Given the description of an element on the screen output the (x, y) to click on. 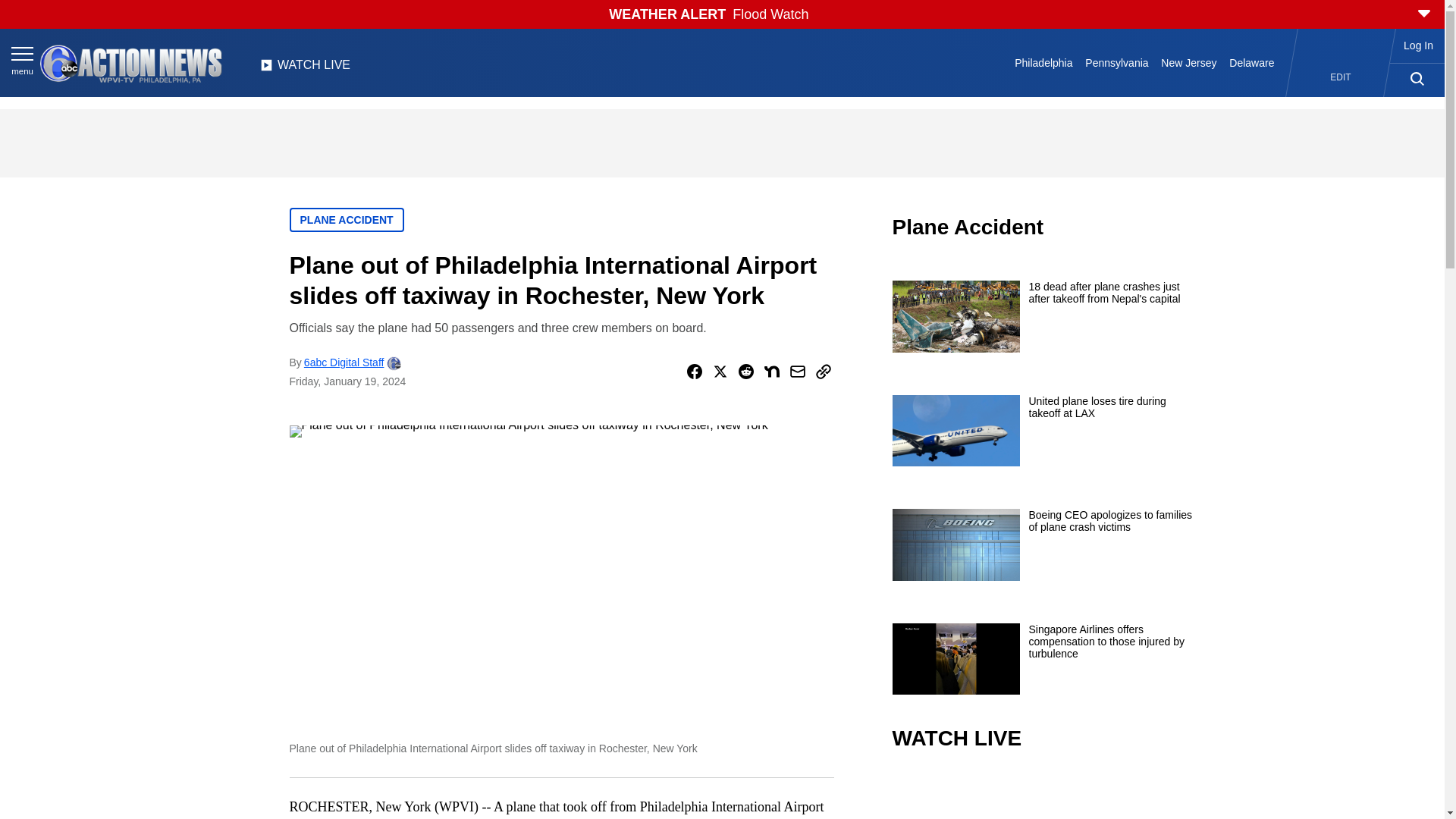
Philadelphia (1043, 62)
Pennsylvania (1116, 62)
Delaware (1252, 62)
video.title (1043, 796)
New Jersey (1188, 62)
WATCH LIVE (305, 69)
EDIT (1340, 77)
